Given the description of an element on the screen output the (x, y) to click on. 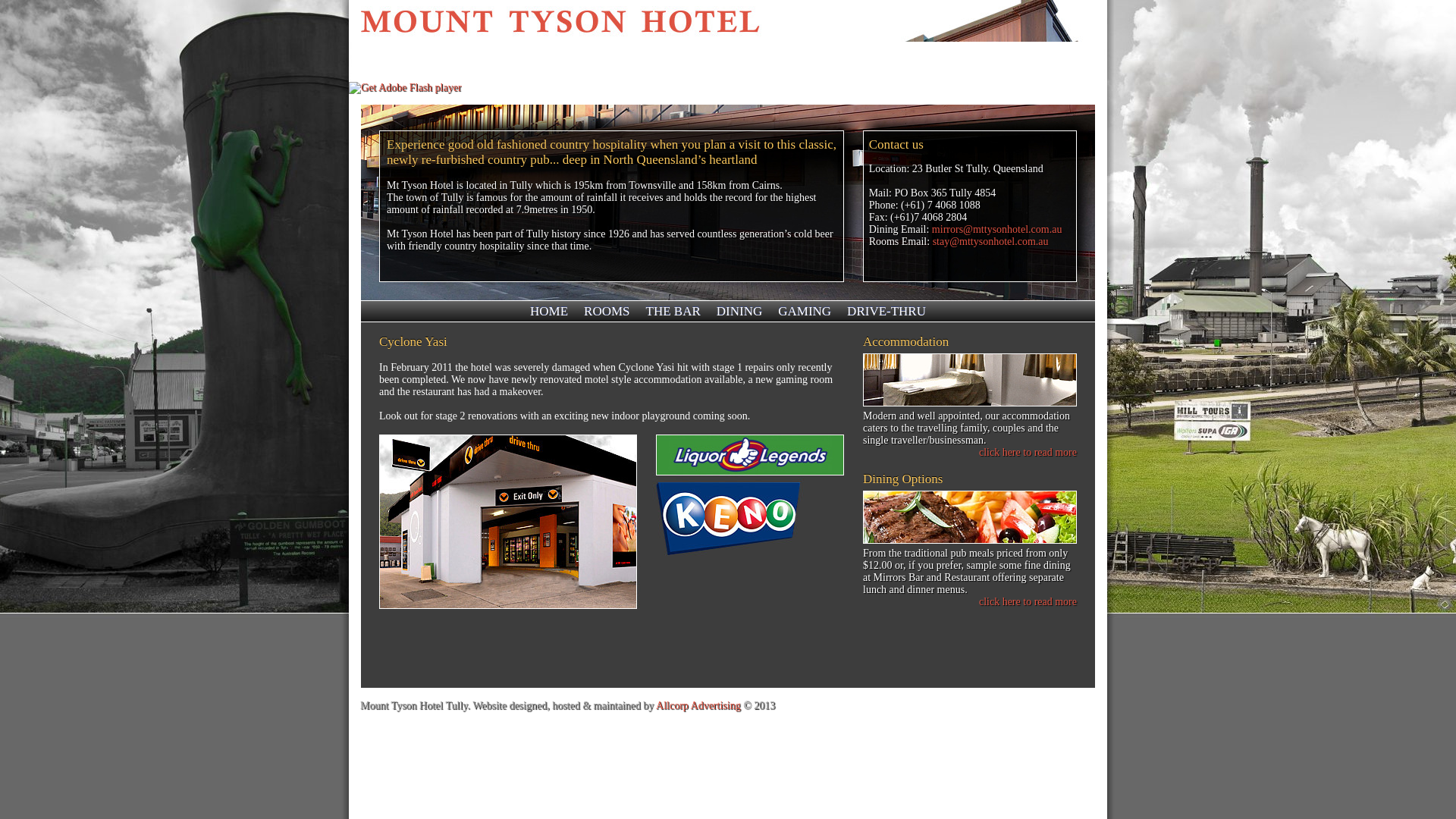
THE BAR Element type: text (673, 311)
mirrors@mttysonhotel.com.au Element type: text (996, 229)
ROOMS Element type: text (606, 311)
stay@mttysonhotel.com.au Element type: text (990, 241)
click here to read more Element type: text (1027, 452)
Allcorp Advertising Element type: text (697, 705)
HOME Element type: text (548, 311)
DRIVE-THRU Element type: text (886, 311)
DINING Element type: text (739, 311)
GAMING Element type: text (804, 311)
click here to read more Element type: text (1027, 601)
